Given the description of an element on the screen output the (x, y) to click on. 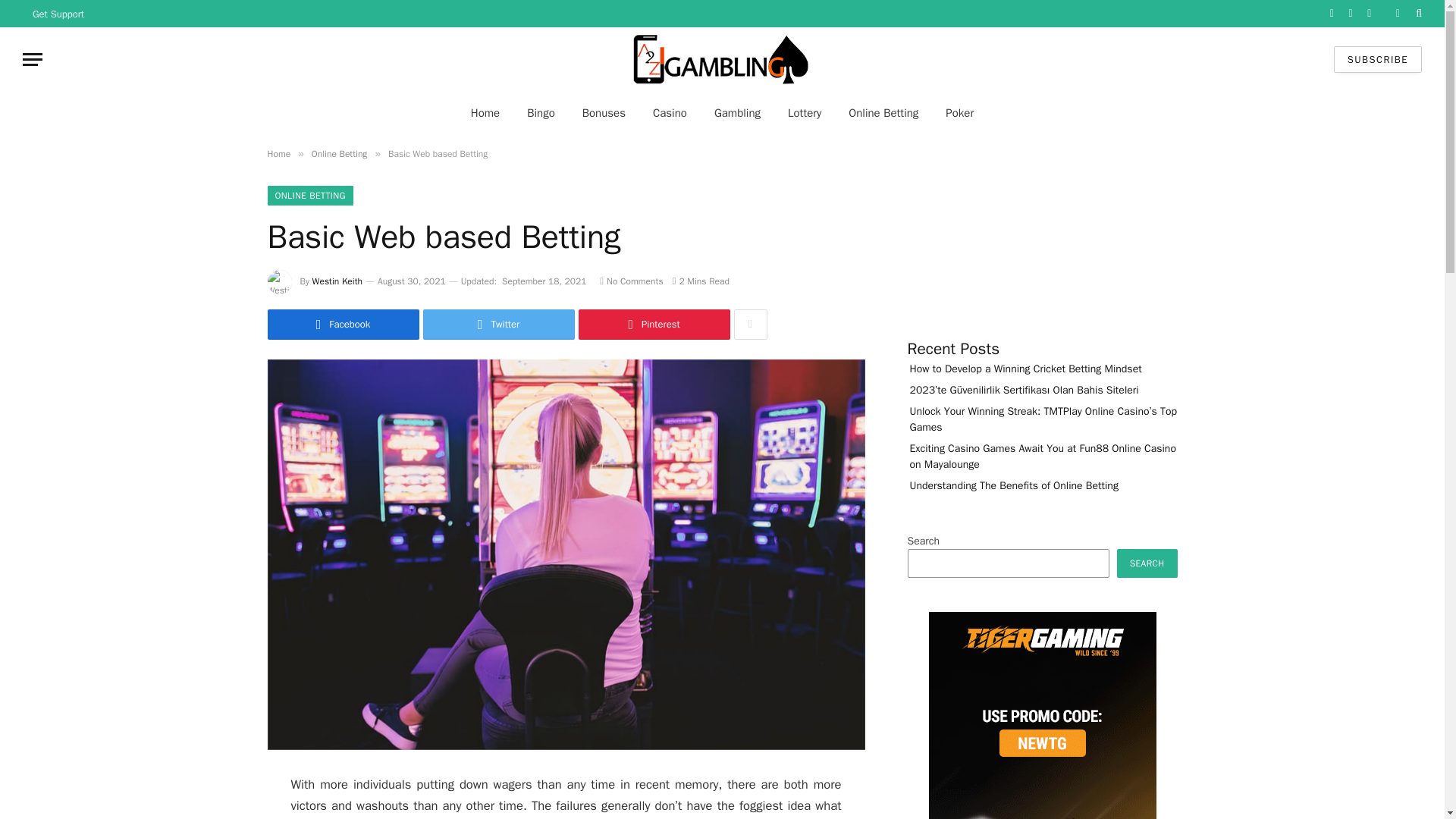
Poker (959, 112)
Home (485, 112)
Share on Twitter (499, 324)
Lottery (804, 112)
Casino (669, 112)
Switch to Dark Design - easier on eyes. (1397, 13)
Gambling (737, 112)
Bonuses (604, 112)
Get Support (58, 13)
Posts by Westin Keith (337, 281)
Share on Facebook (342, 324)
SUBSCRIBE (1377, 58)
Online Betting (882, 112)
Bingo (541, 112)
